Given the description of an element on the screen output the (x, y) to click on. 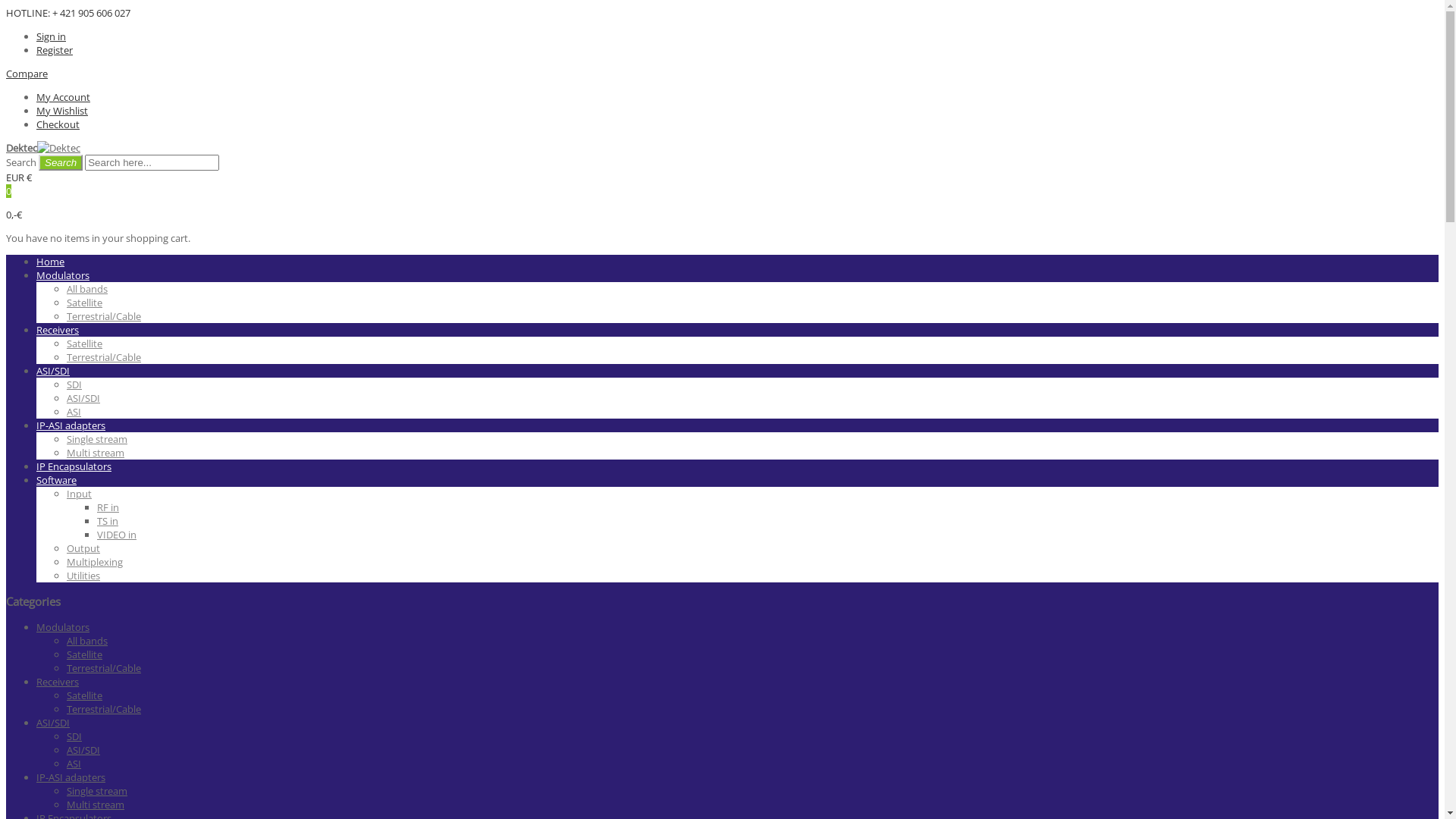
ASI/SDI Element type: text (52, 722)
Search Element type: text (60, 162)
Modulators Element type: text (62, 275)
Home Element type: text (50, 261)
Terrestrial/Cable Element type: text (103, 316)
Single stream Element type: text (96, 438)
TS in Element type: text (107, 520)
ASI Element type: text (73, 411)
All bands Element type: text (86, 640)
Input Element type: text (78, 493)
VIDEO in Element type: text (116, 534)
Single stream Element type: text (96, 790)
Terrestrial/Cable Element type: text (103, 667)
Checkout Element type: text (57, 124)
Multi stream Element type: text (95, 804)
Satellite Element type: text (84, 695)
Software Element type: text (56, 479)
Compare Element type: text (26, 73)
Terrestrial/Cable Element type: text (103, 357)
Receivers Element type: text (57, 681)
IP-ASI adapters Element type: text (70, 777)
SDI Element type: text (73, 736)
Satellite Element type: text (84, 343)
Satellite Element type: text (84, 654)
IP Encapsulators Element type: text (73, 466)
IP-ASI adapters Element type: text (70, 425)
ASI/SDI Element type: text (52, 370)
Satellite Element type: text (84, 302)
Output Element type: text (83, 548)
Multiplexing Element type: text (94, 561)
ASI Element type: text (73, 763)
My Account Element type: text (63, 96)
Register Element type: text (54, 49)
ASI/SDI Element type: text (83, 749)
Sign in Element type: text (50, 36)
My Wishlist Element type: text (61, 110)
Receivers Element type: text (57, 329)
ASI/SDI Element type: text (83, 397)
Terrestrial/Cable Element type: text (103, 708)
Utilities Element type: text (83, 575)
RF in Element type: text (108, 507)
Multi stream Element type: text (95, 452)
All bands Element type: text (86, 288)
Modulators Element type: text (62, 626)
SDI Element type: text (73, 384)
Dektec Element type: text (43, 147)
